Given the description of an element on the screen output the (x, y) to click on. 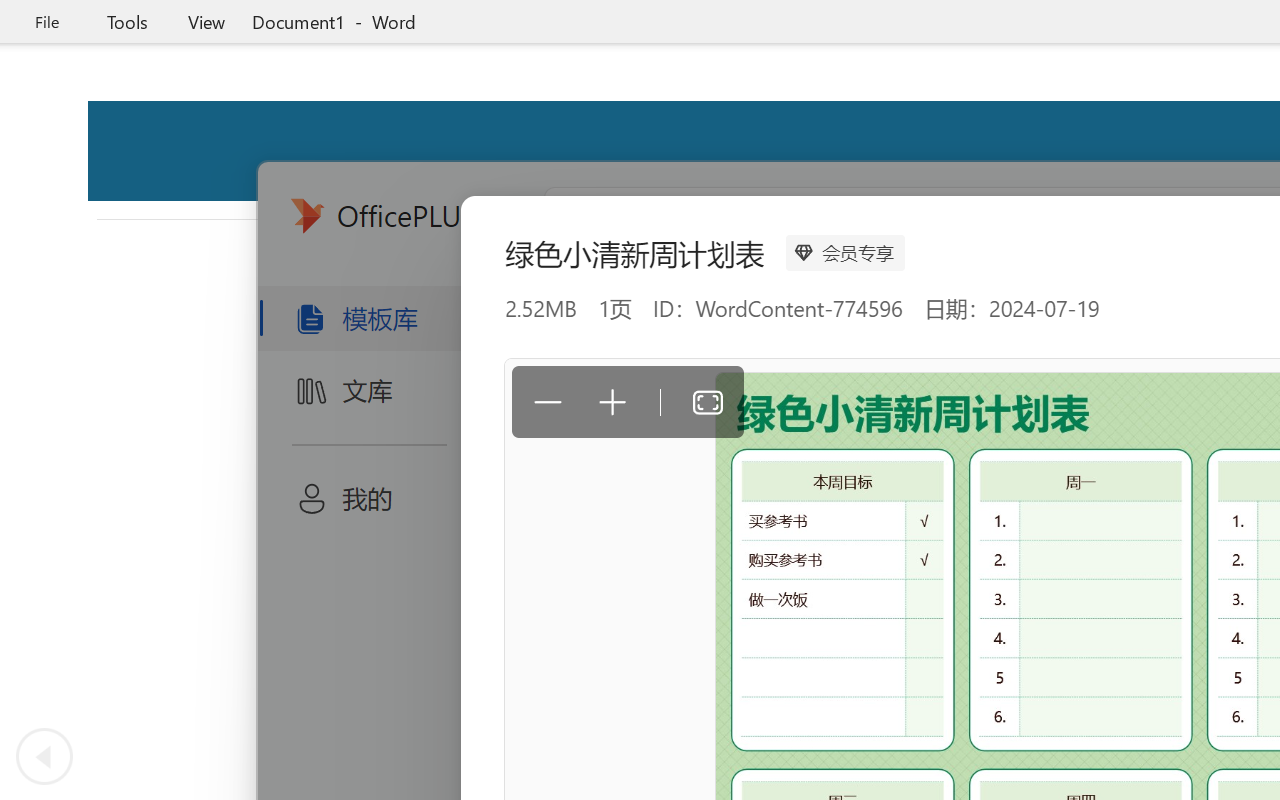
Tools (127, 21)
